Given the description of an element on the screen output the (x, y) to click on. 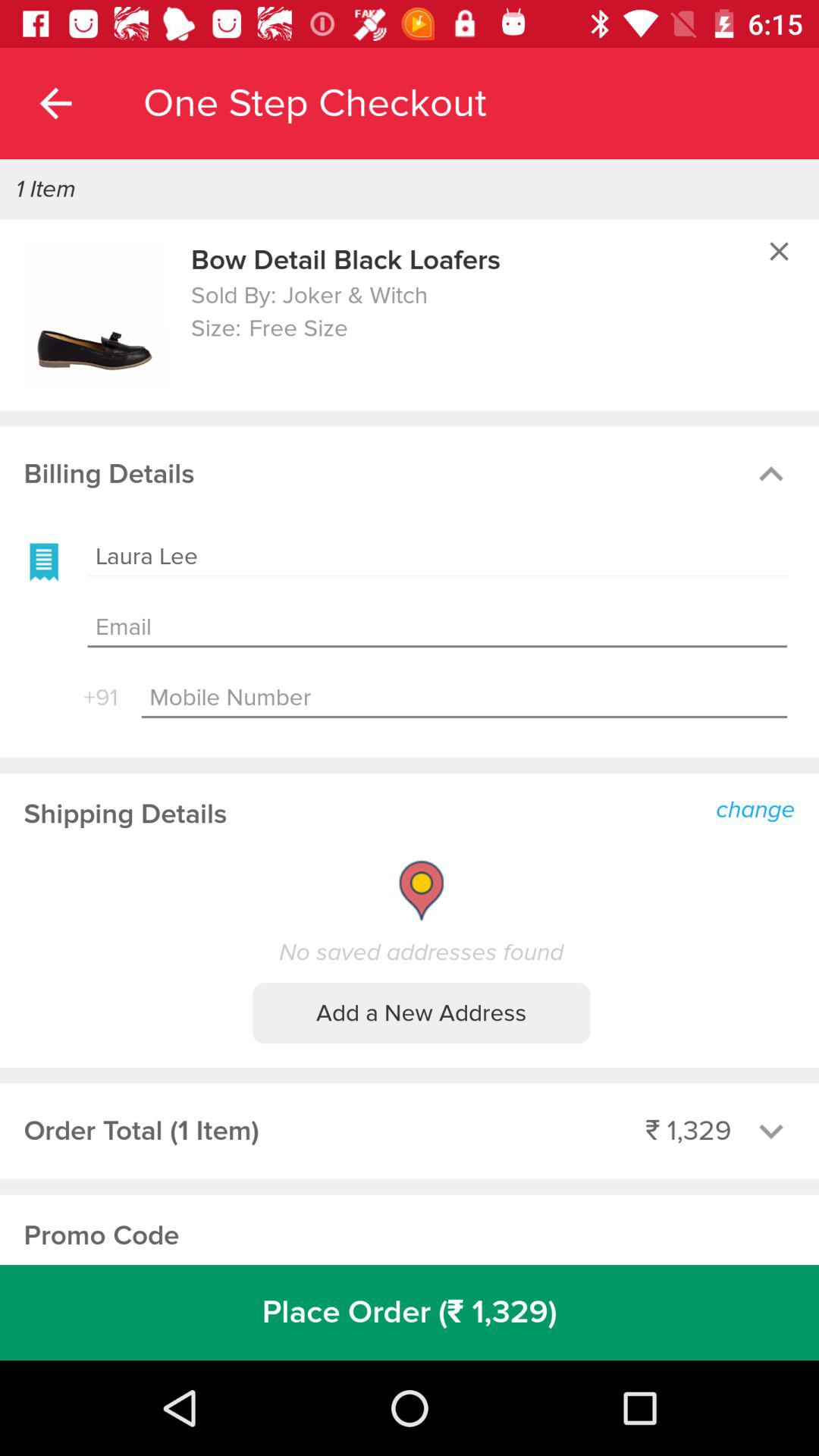
product image (95, 314)
